Given the description of an element on the screen output the (x, y) to click on. 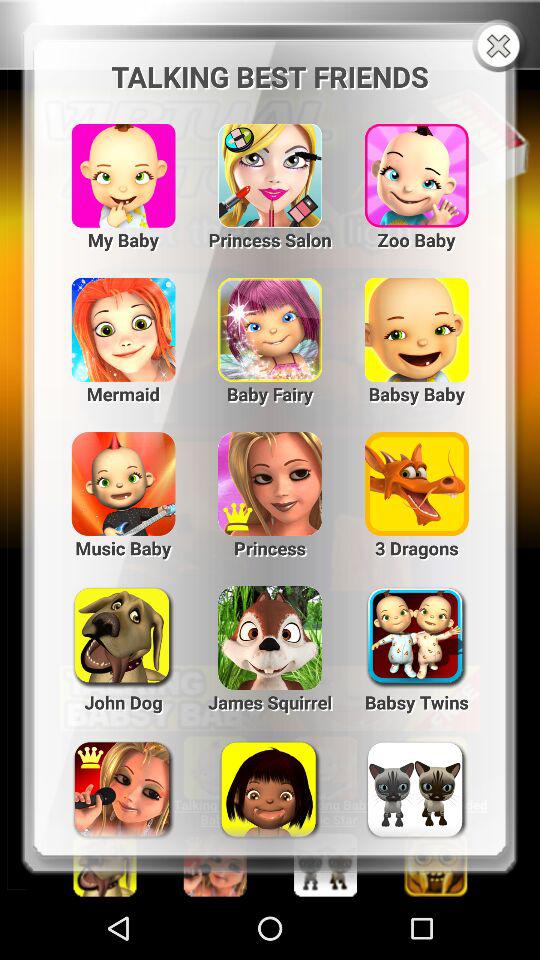
click on 1st image in 1st row (123, 166)
click on 2nd image in last row (269, 781)
click on the 2nd image in 3rd row (269, 474)
click on 3rd image in the last row (416, 781)
click on third icon of first column (416, 166)
